Given the description of an element on the screen output the (x, y) to click on. 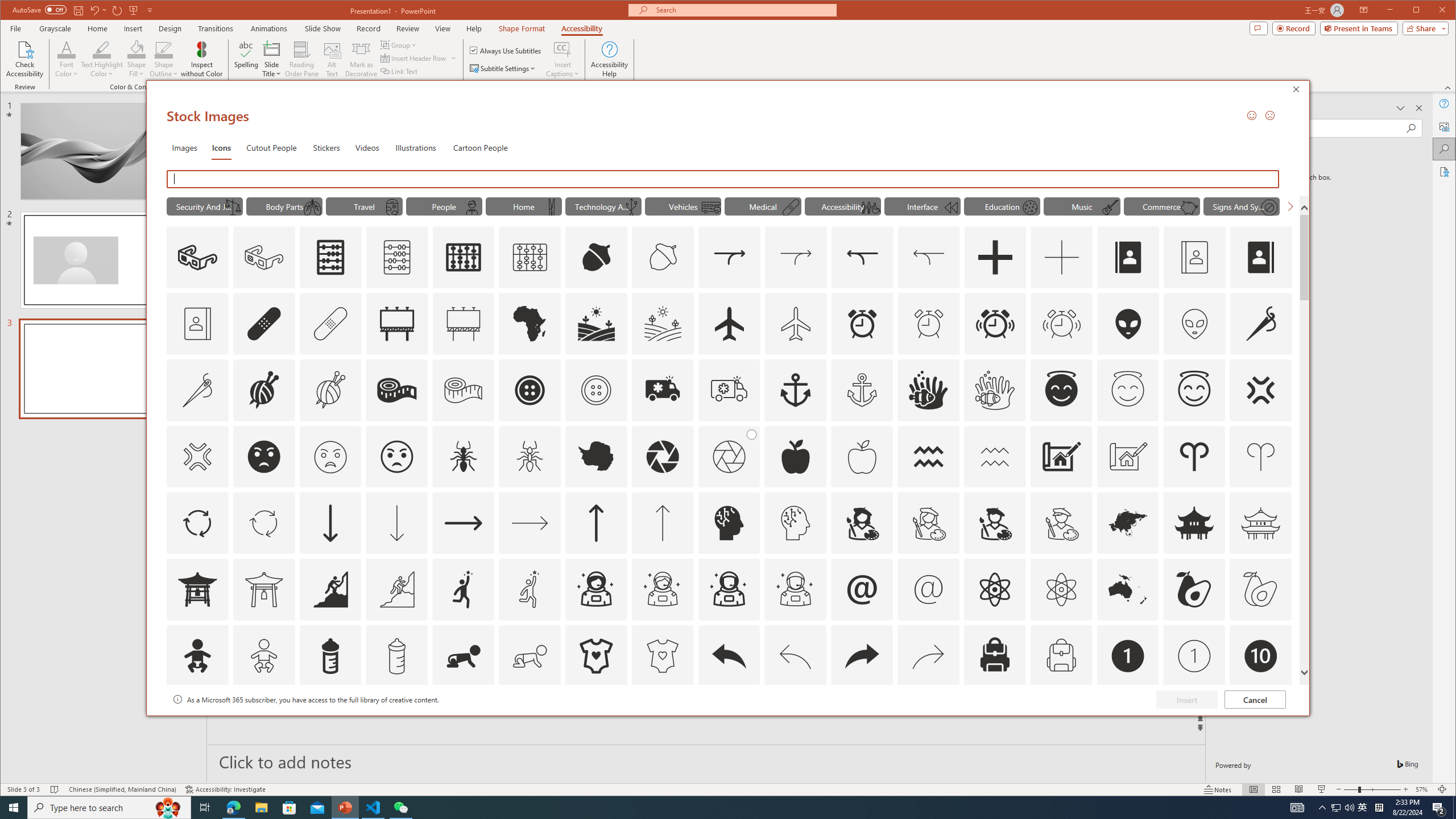
AutomationID: Icons_BabyCrawling (462, 655)
AutomationID: Icons_AlarmClock_M (928, 323)
AutomationID: Icons_Agriculture_M (663, 323)
AutomationID: Icons_Aspiration_M (397, 589)
Search (1444, 148)
AutomationID: Icons_Plug_M (631, 207)
AutomationID: Icons_Badge5_M (729, 721)
AutomationID: Icons_Aquarius_M (994, 456)
AutomationID: Icons_Acquisition_RTL_M (928, 256)
Images (183, 147)
